Given the description of an element on the screen output the (x, y) to click on. 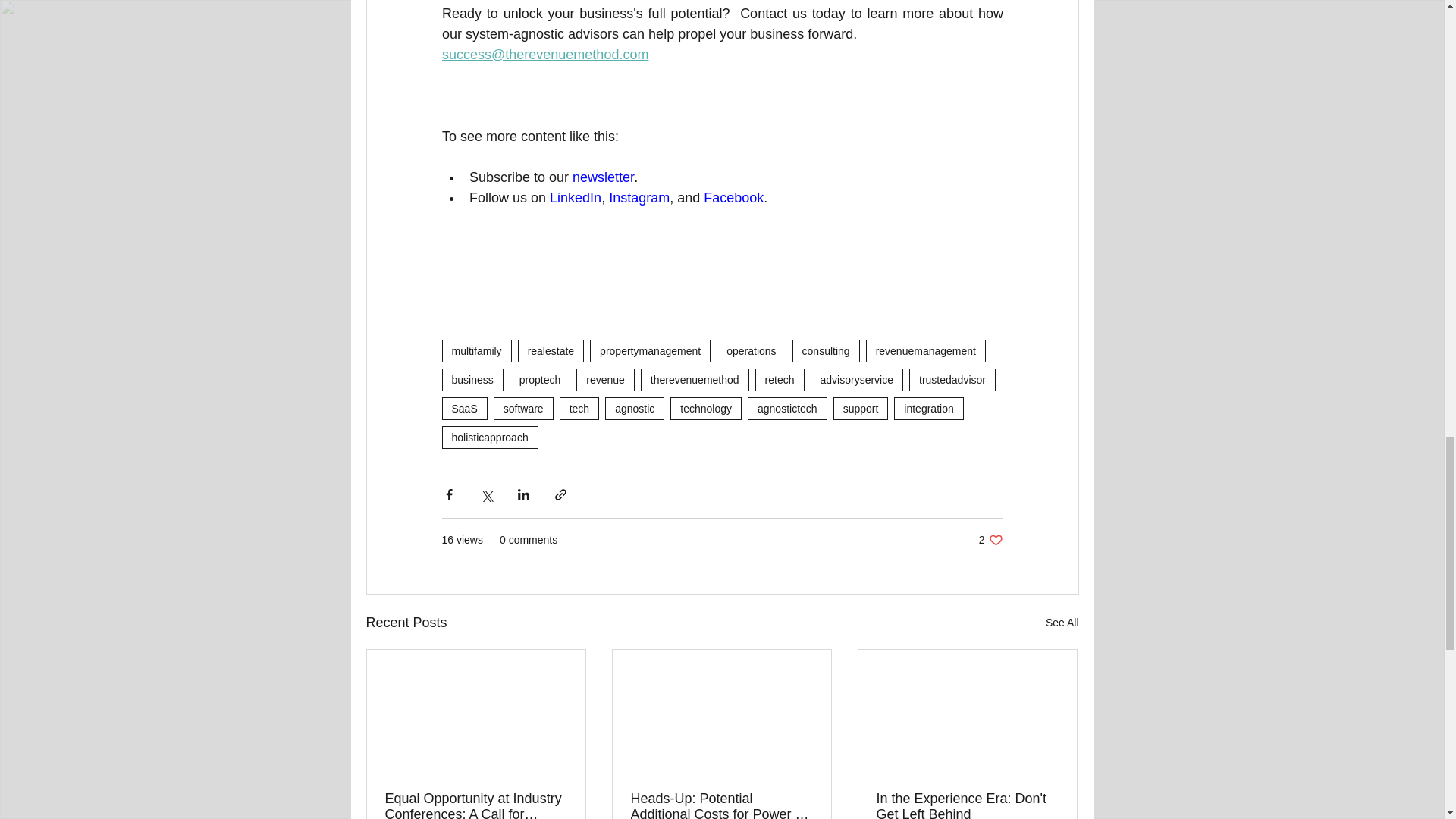
tech (578, 408)
consulting (826, 350)
technology (705, 408)
revenuemanagement (925, 350)
operations (751, 350)
retech (780, 379)
multifamily (476, 350)
SaaS (463, 408)
integration (927, 408)
support (860, 408)
